Given the description of an element on the screen output the (x, y) to click on. 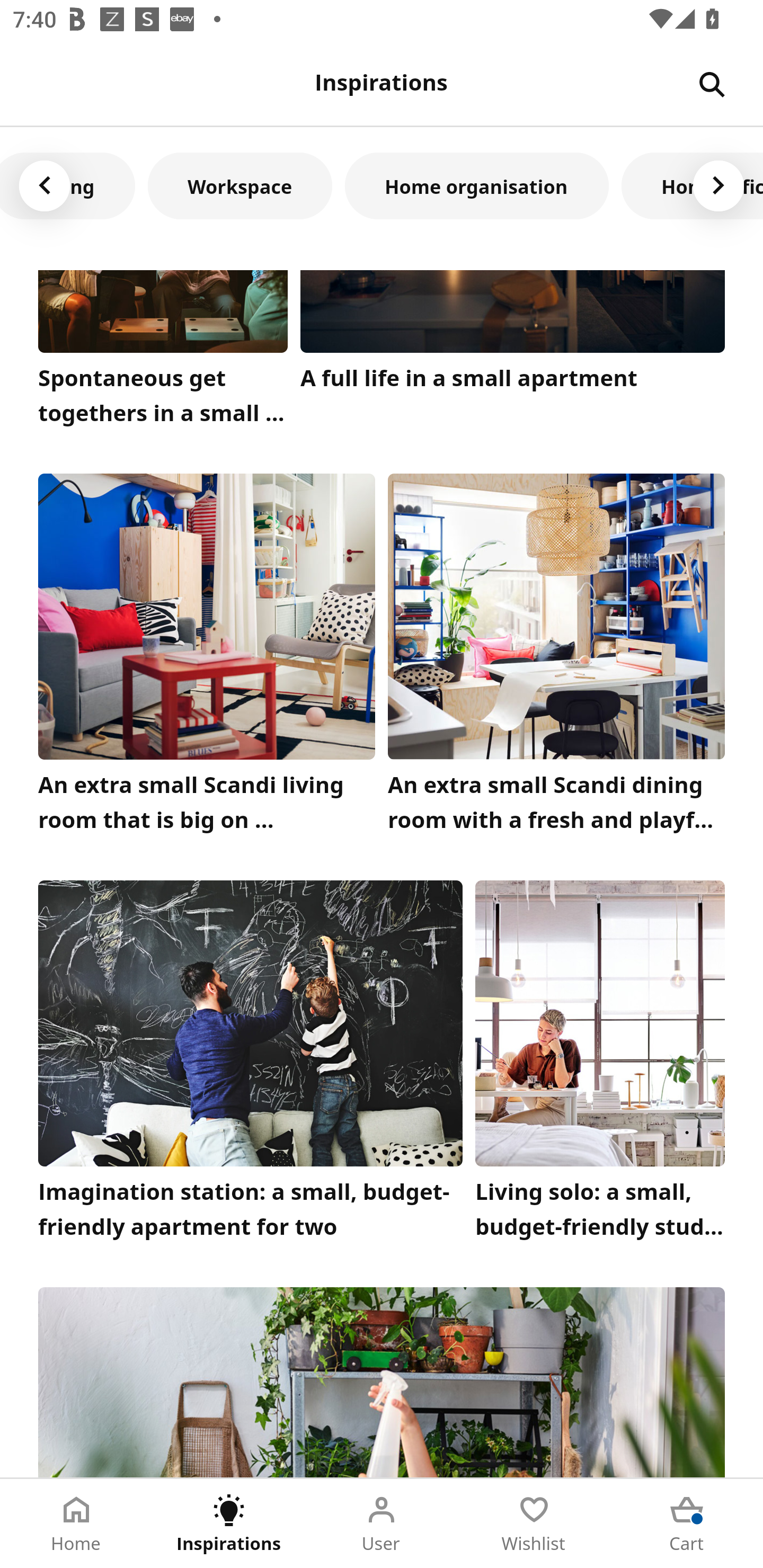
Workspace (239, 185)
Home organisation (476, 185)
Spontaneous get togethers in a small apartment (162, 352)
A full life in a small apartment (512, 352)
Home
Tab 1 of 5 (76, 1522)
Inspirations
Tab 2 of 5 (228, 1522)
User
Tab 3 of 5 (381, 1522)
Wishlist
Tab 4 of 5 (533, 1522)
Cart
Tab 5 of 5 (686, 1522)
